Given the description of an element on the screen output the (x, y) to click on. 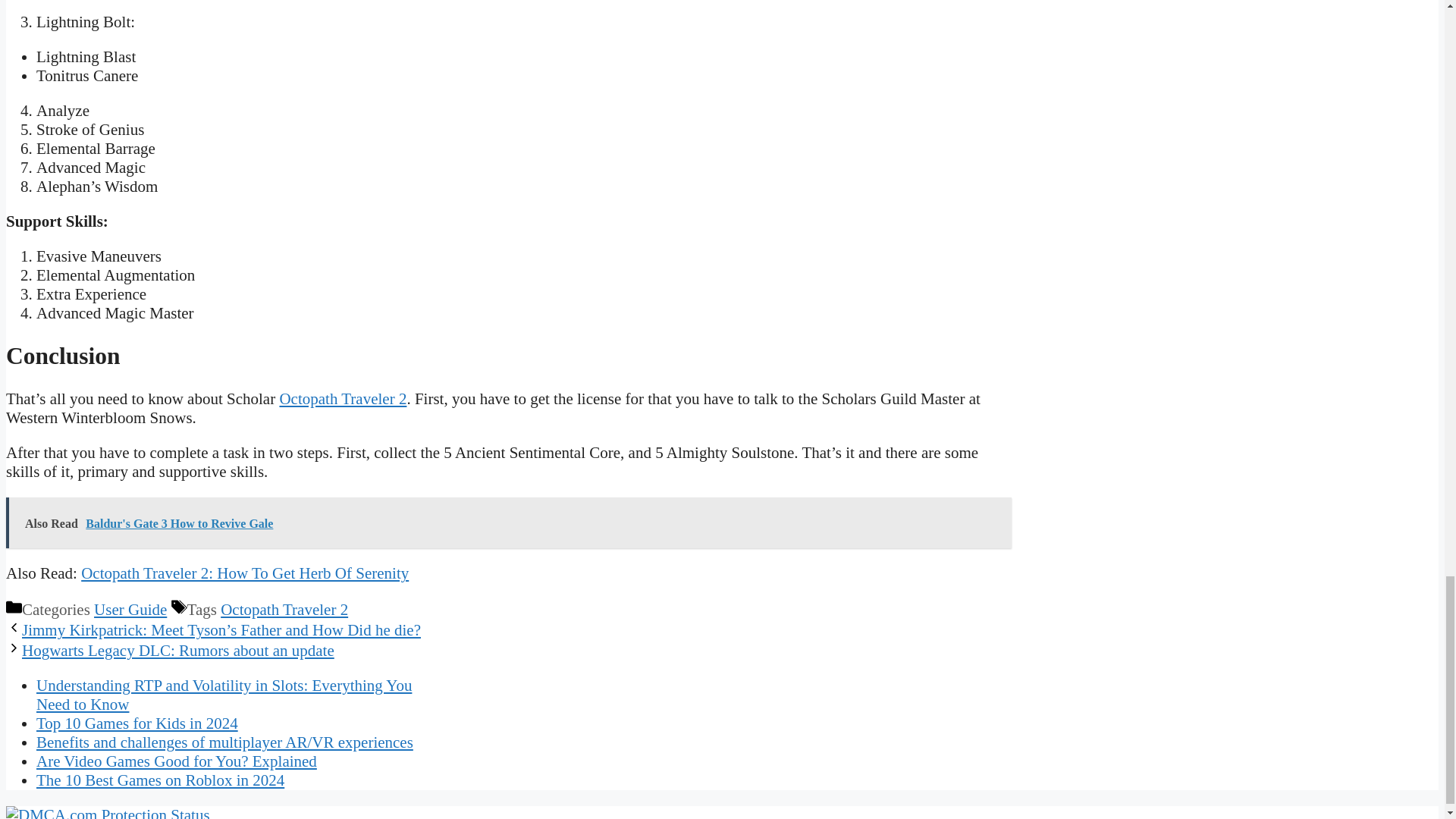
Octopath Traveler 2: How To Get Herb Of Serenity (245, 573)
Top 10 Games for Kids in 2024 (137, 723)
Octopath Traveler 2 (284, 609)
Also Read  Baldur's Gate 3 How to Revive Gale (508, 522)
Octopath Traveler 2 (342, 398)
Hogwarts Legacy DLC: Rumors about an update (177, 650)
The 10 Best Games on Roblox in 2024 (159, 780)
Are Video Games Good for You? Explained (176, 761)
User Guide (130, 609)
